Given the description of an element on the screen output the (x, y) to click on. 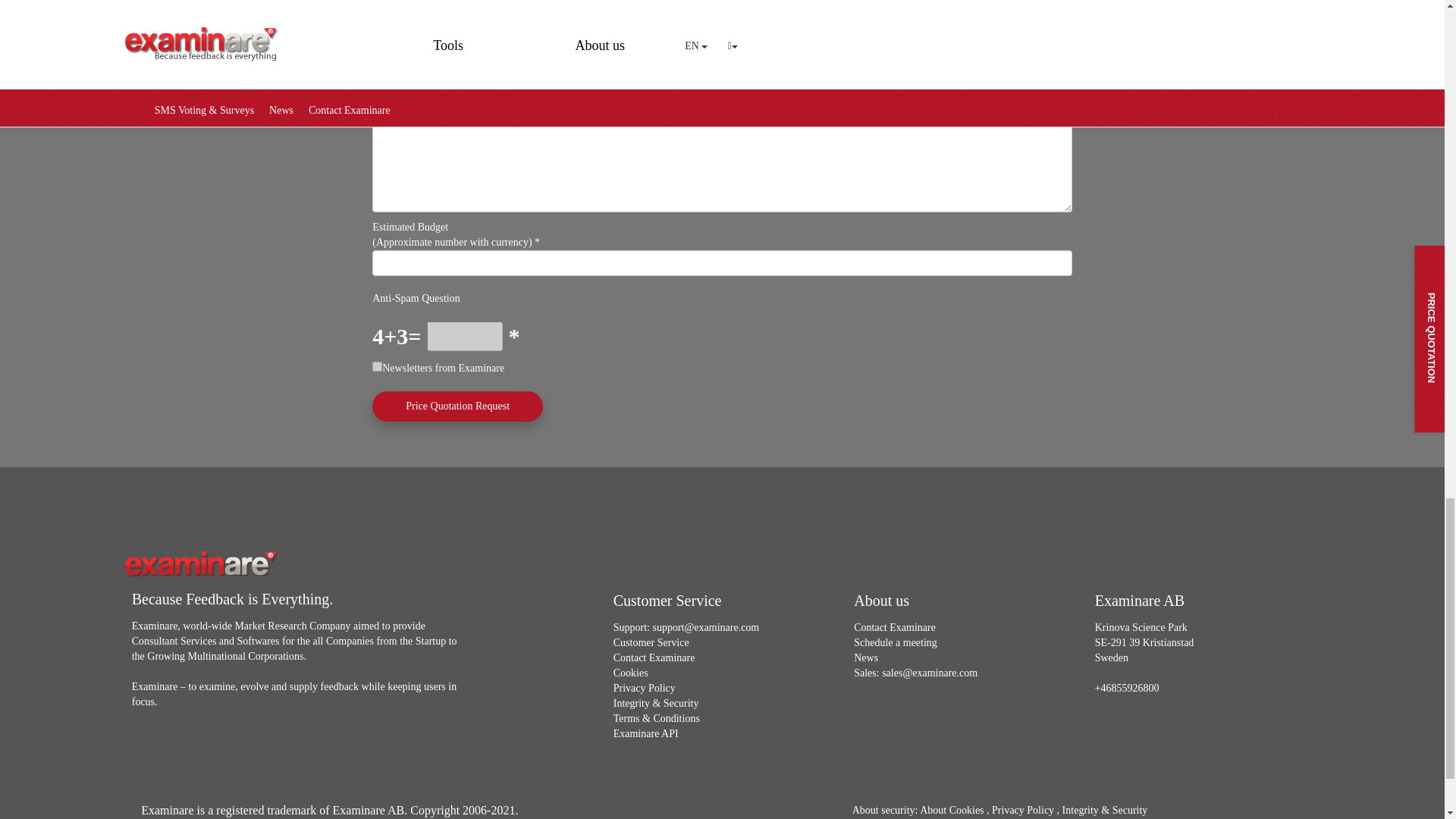
Price Quotation Request (457, 406)
on (376, 366)
